Given the description of an element on the screen output the (x, y) to click on. 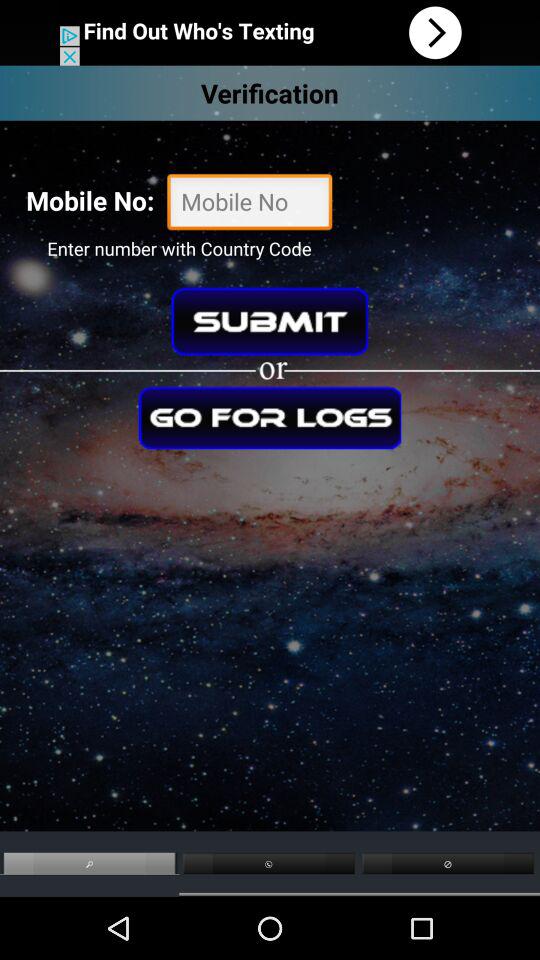
notifications (270, 32)
